Given the description of an element on the screen output the (x, y) to click on. 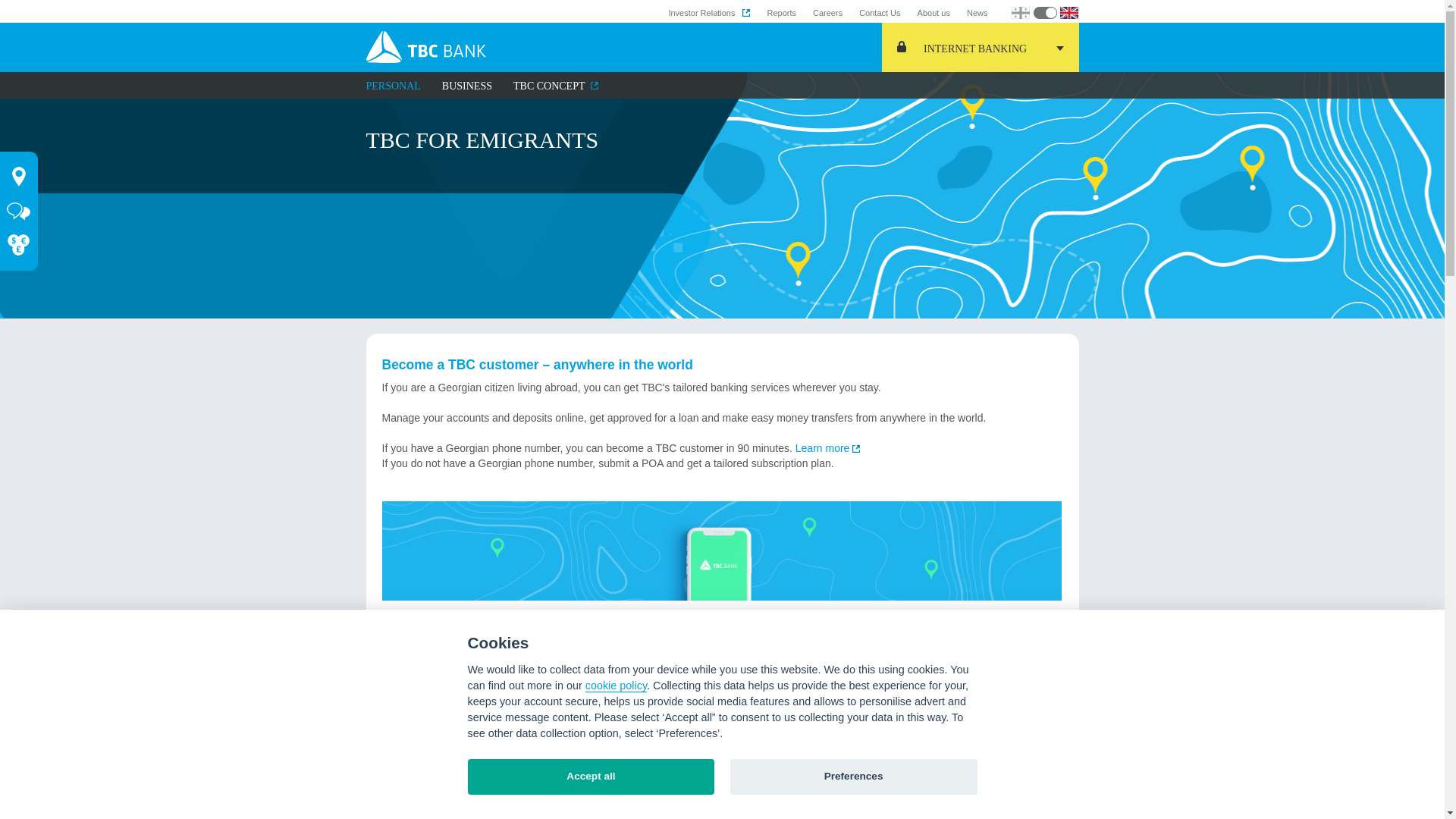
Skip to Content (36, 7)
Careers (827, 12)
Reports (781, 12)
Georgian (1022, 12)
INTERNET BANKING (979, 47)
BUSINESS (467, 86)
English (1071, 12)
News (977, 12)
Investor Relations (708, 12)
Contact Us (879, 12)
